Given the description of an element on the screen output the (x, y) to click on. 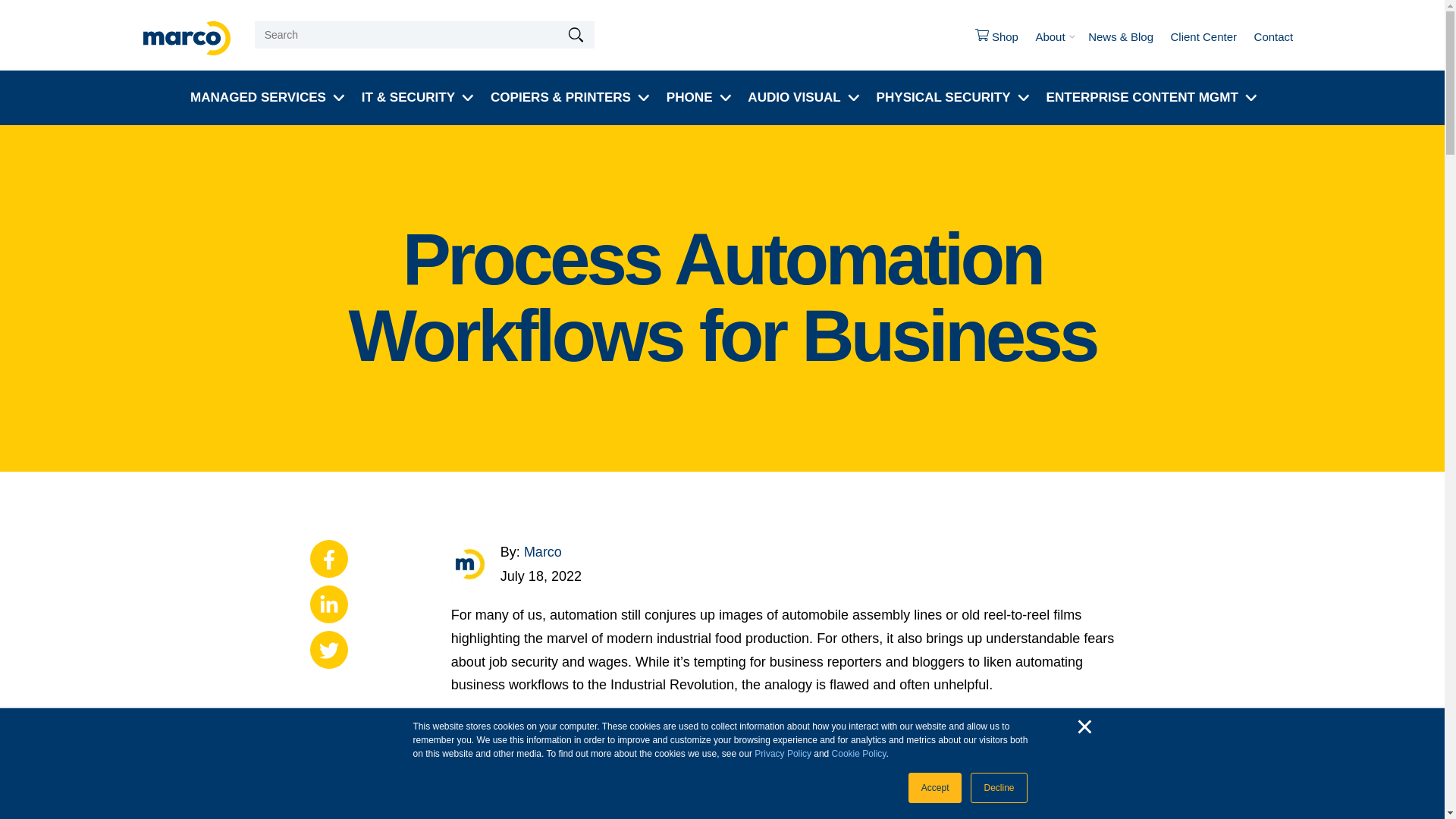
Privacy Policy (782, 753)
Decline (998, 788)
Share to Facebook (328, 558)
Accept (935, 788)
Share to Twitter (328, 649)
Share to LinkedIn (328, 604)
Cookie Policy (858, 753)
